Given the description of an element on the screen output the (x, y) to click on. 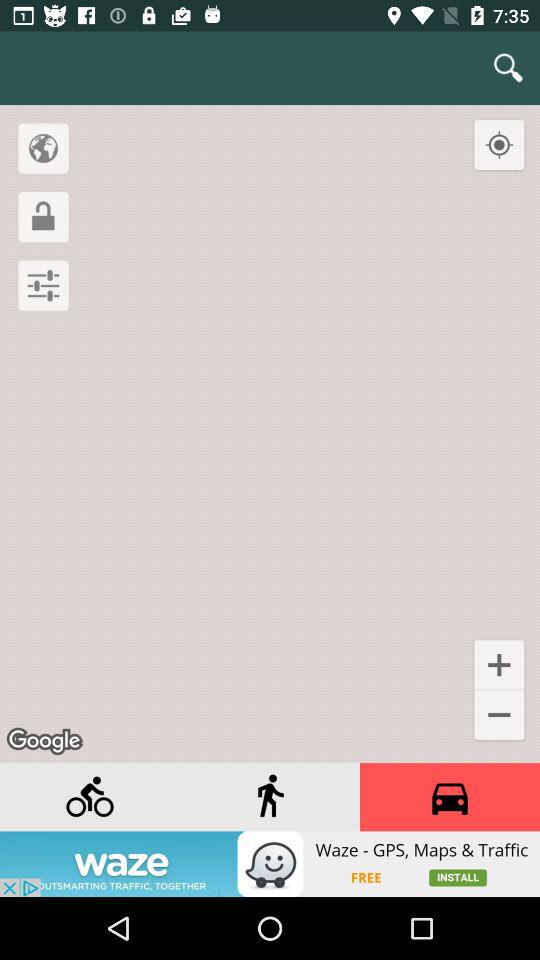
click to two wheeler option (90, 797)
